Given the description of an element on the screen output the (x, y) to click on. 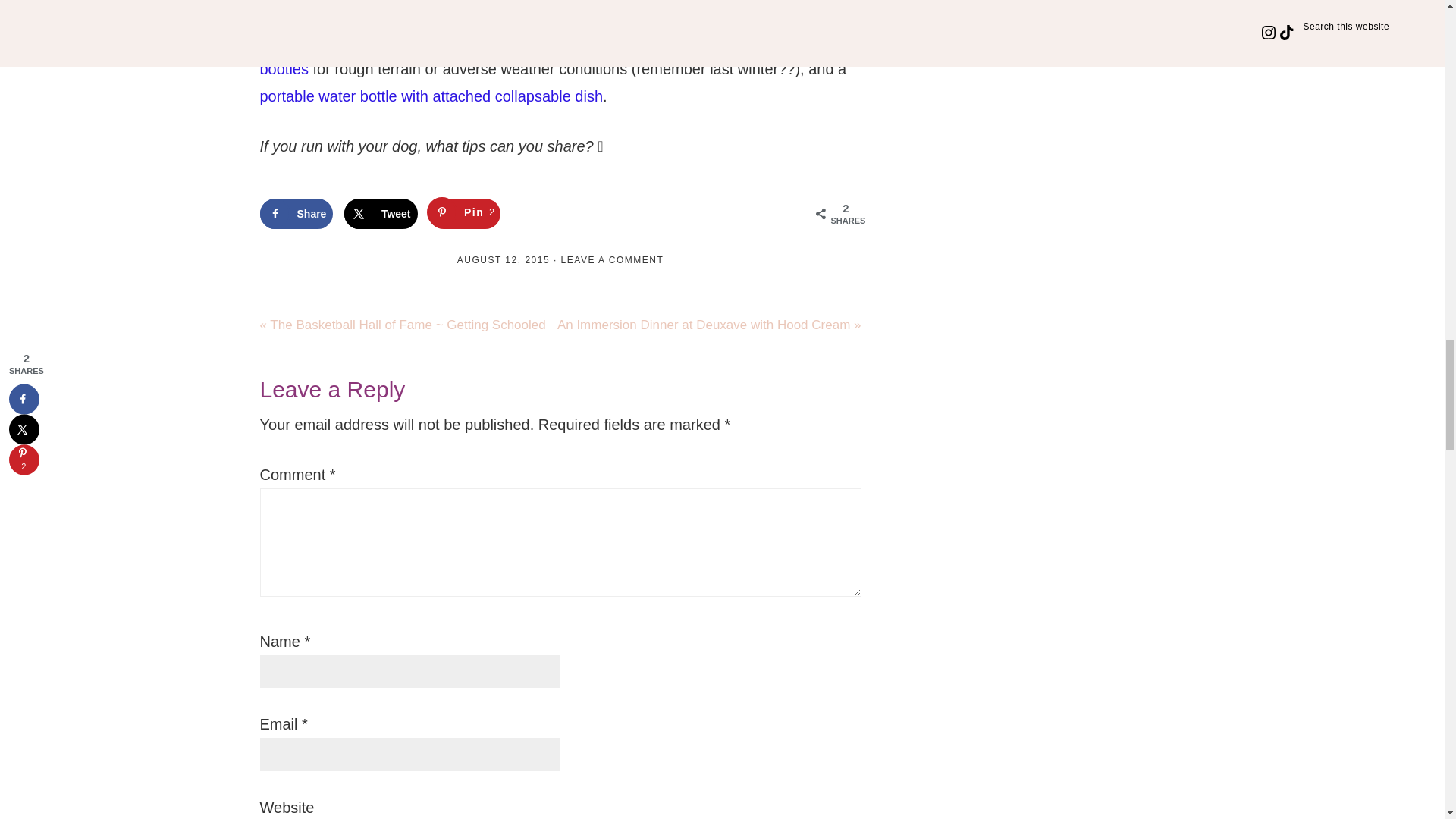
Share on X (380, 214)
hands-free leashes that you can attach to your waist (601, 41)
Share on Facebook (296, 214)
LEAVE A COMMENT (464, 214)
Tweet (611, 259)
Save to Pinterest (380, 214)
Share (464, 214)
dog booties (296, 214)
portable water bottle with attached collapsable dish (534, 54)
